Given the description of an element on the screen output the (x, y) to click on. 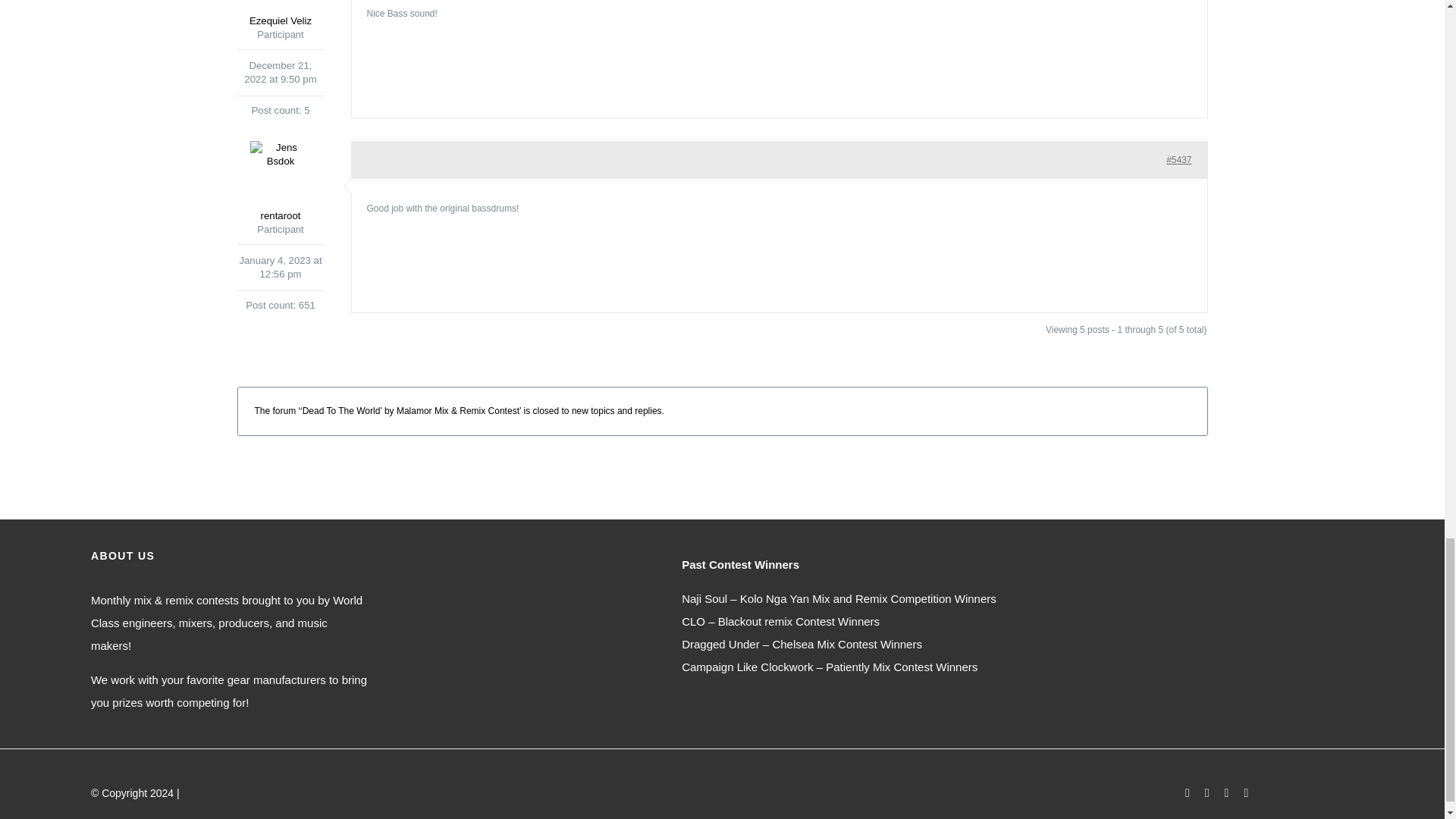
rentaroot (279, 181)
View Ezequiel Veliz's profile (279, 13)
Ezequiel Veliz (279, 13)
View rentaroot's profile (279, 181)
